Given the description of an element on the screen output the (x, y) to click on. 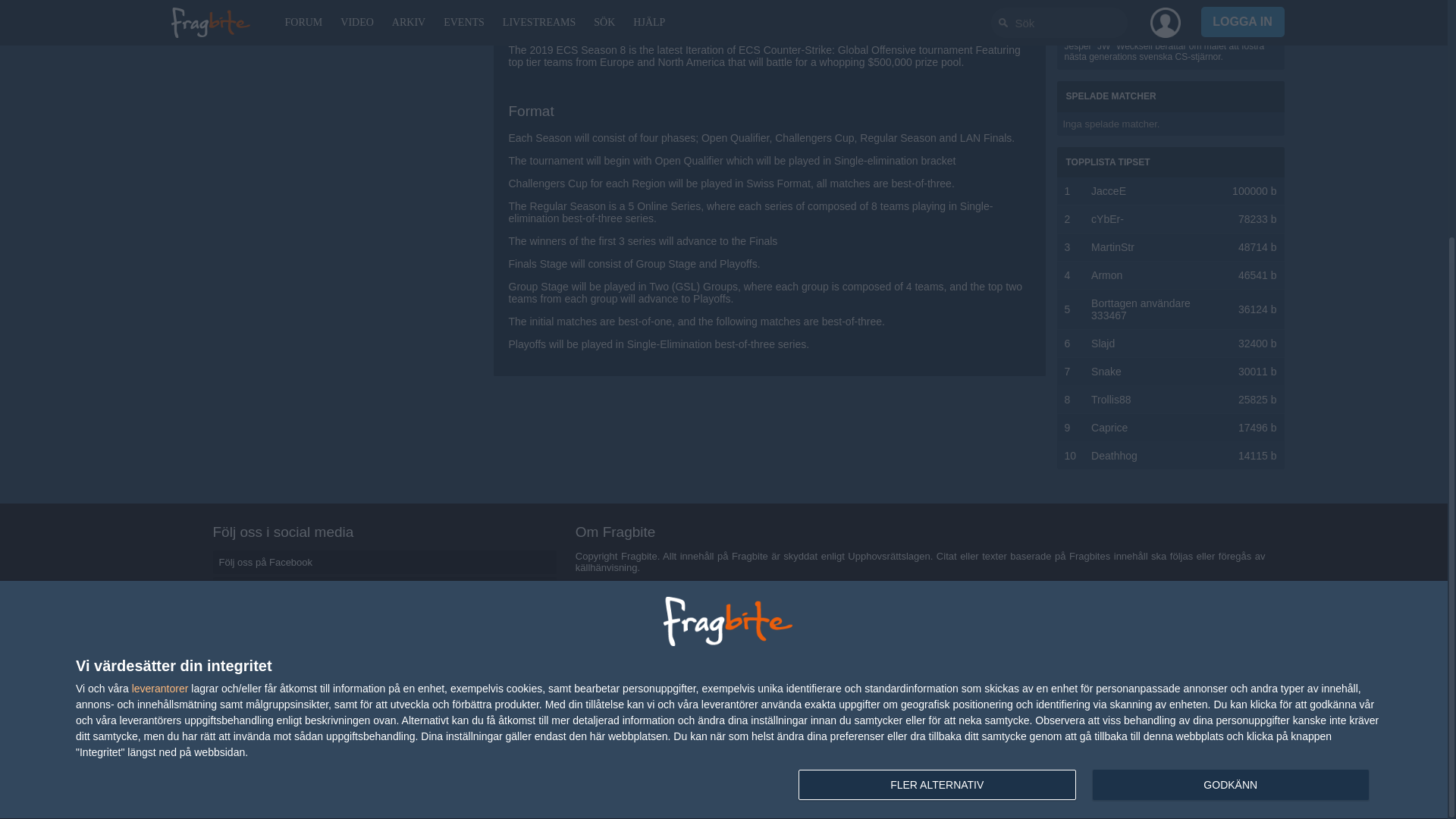
FLER ALTERNATIV (936, 453)
leverantorer (160, 357)
